Given the description of an element on the screen output the (x, y) to click on. 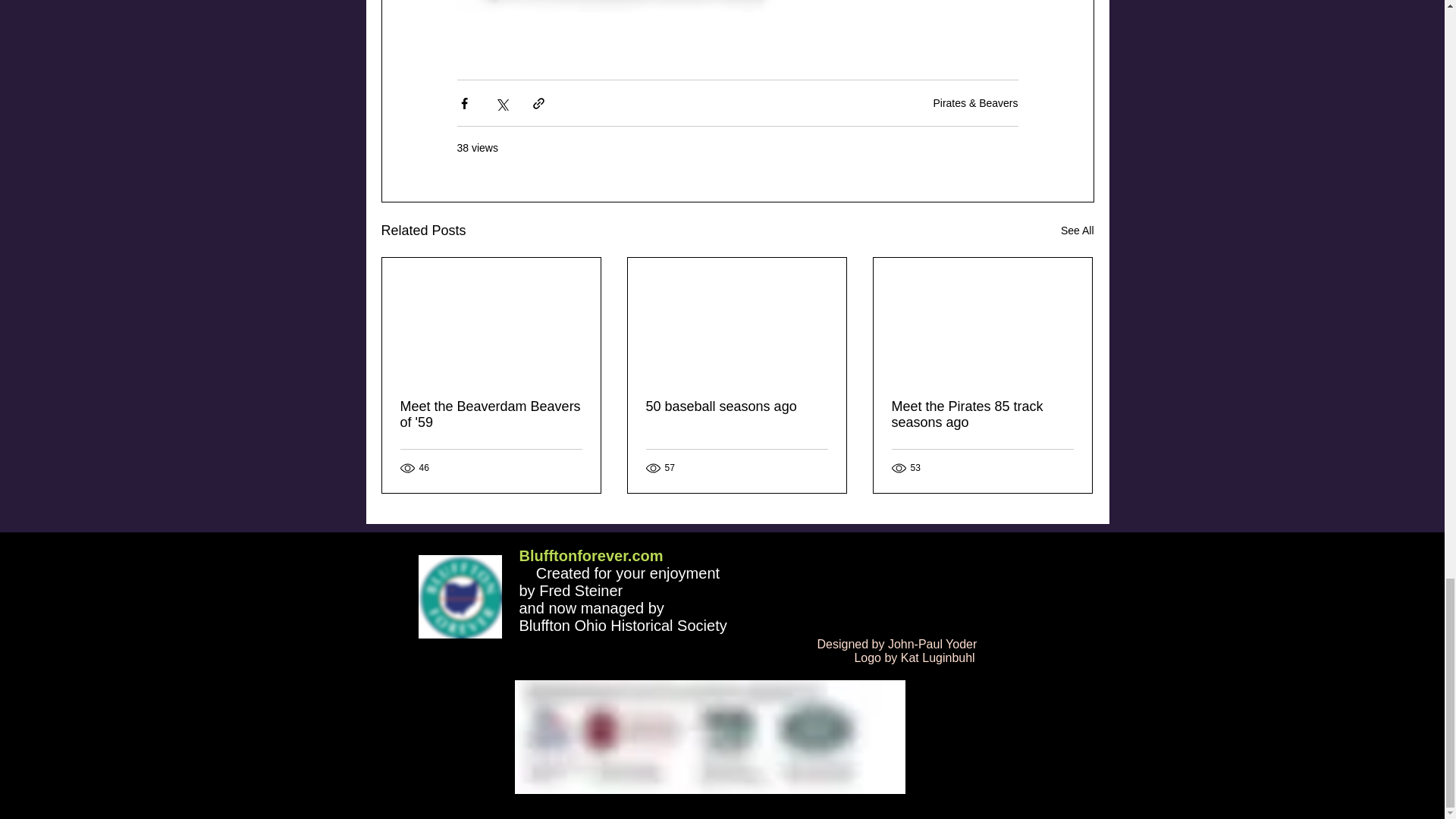
50 baseball seasons ago (737, 406)
See All (1077, 230)
Meet the Beaverdam Beavers of '59 (491, 414)
BF memberships copy.jpg (708, 736)
